Given the description of an element on the screen output the (x, y) to click on. 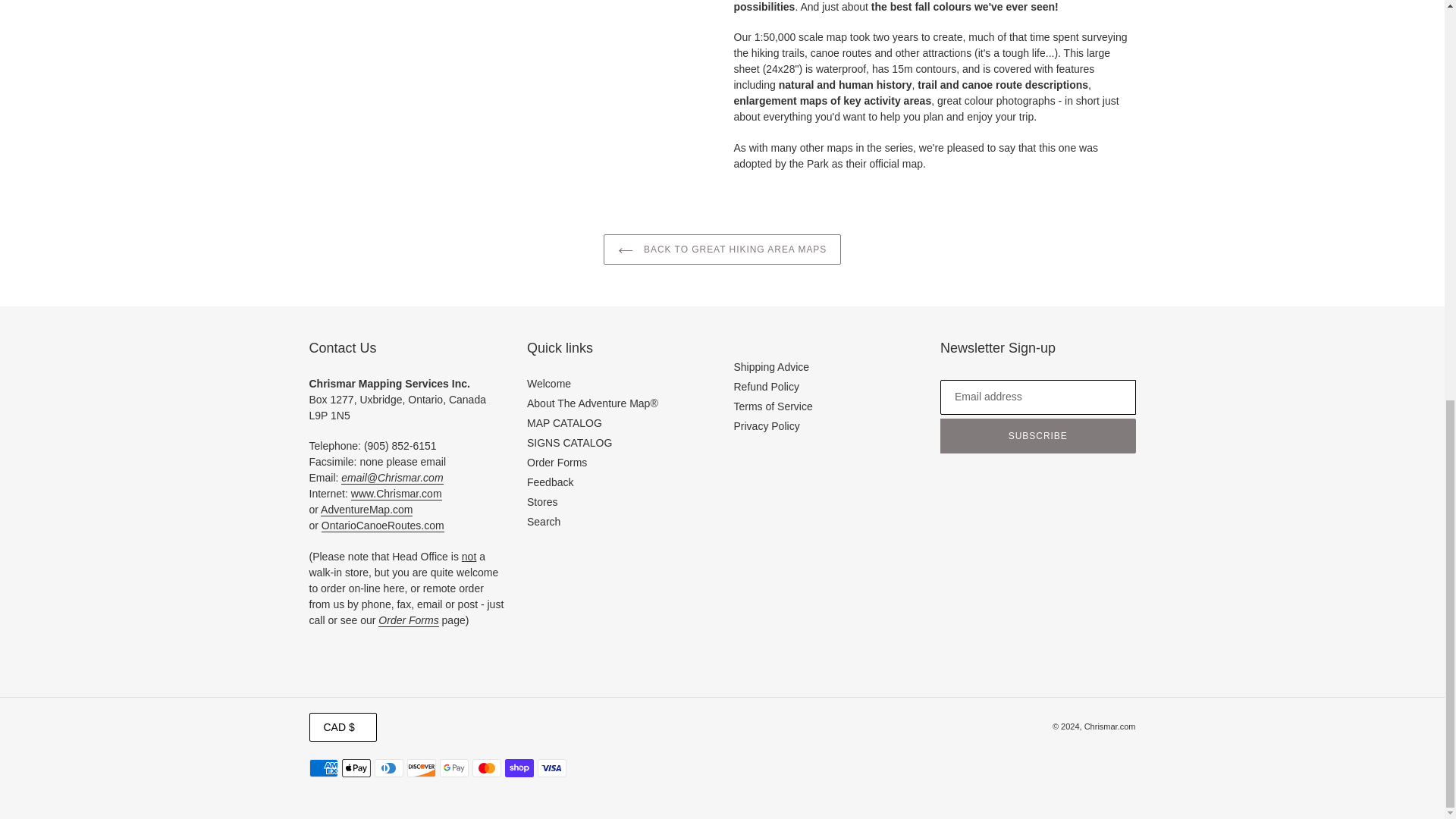
Order Forms (408, 620)
